Given the description of an element on the screen output the (x, y) to click on. 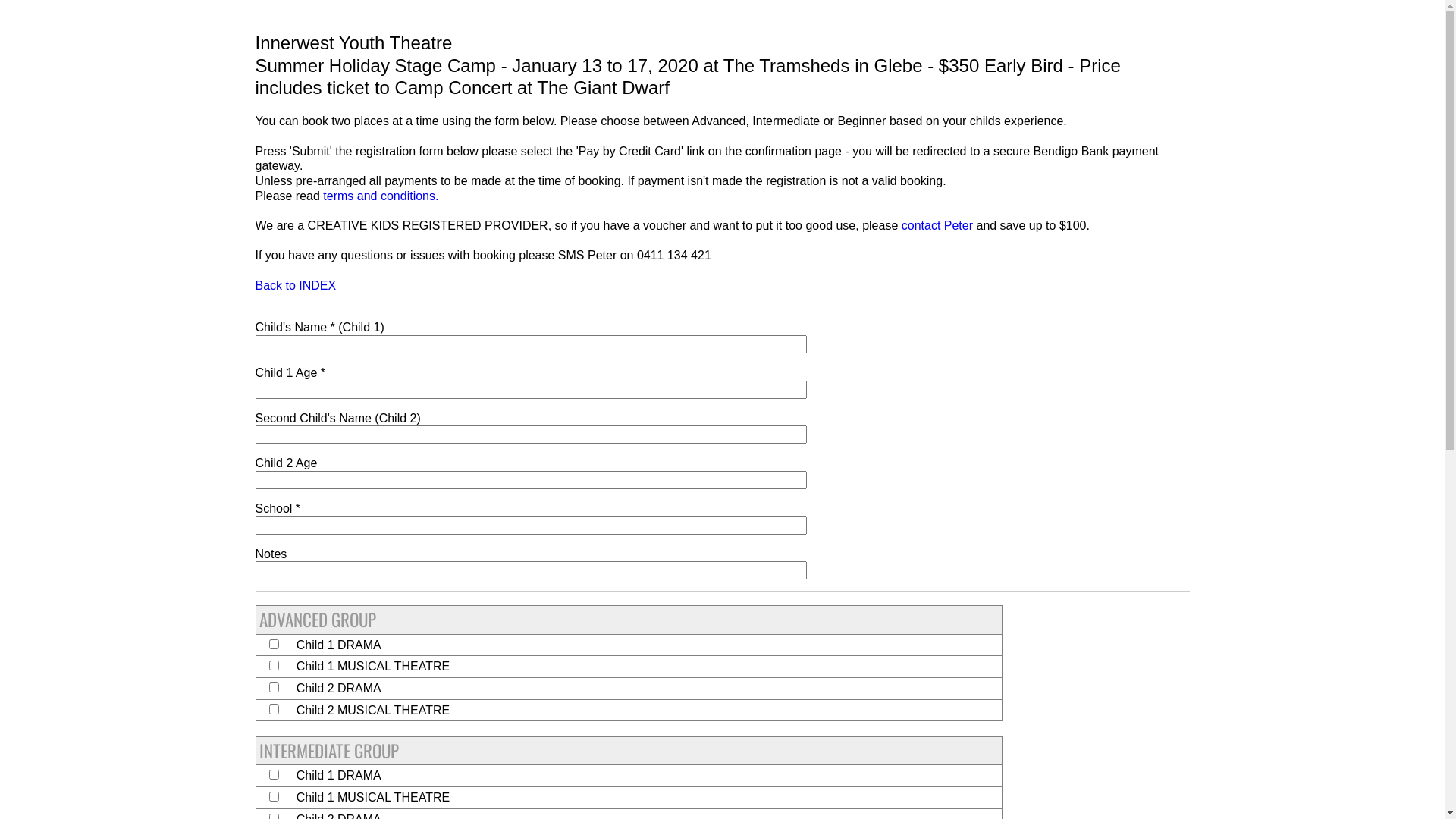
terms and conditions. Element type: text (380, 195)
Back to INDEX Element type: text (294, 285)
contact Peter Element type: text (936, 225)
